Given the description of an element on the screen output the (x, y) to click on. 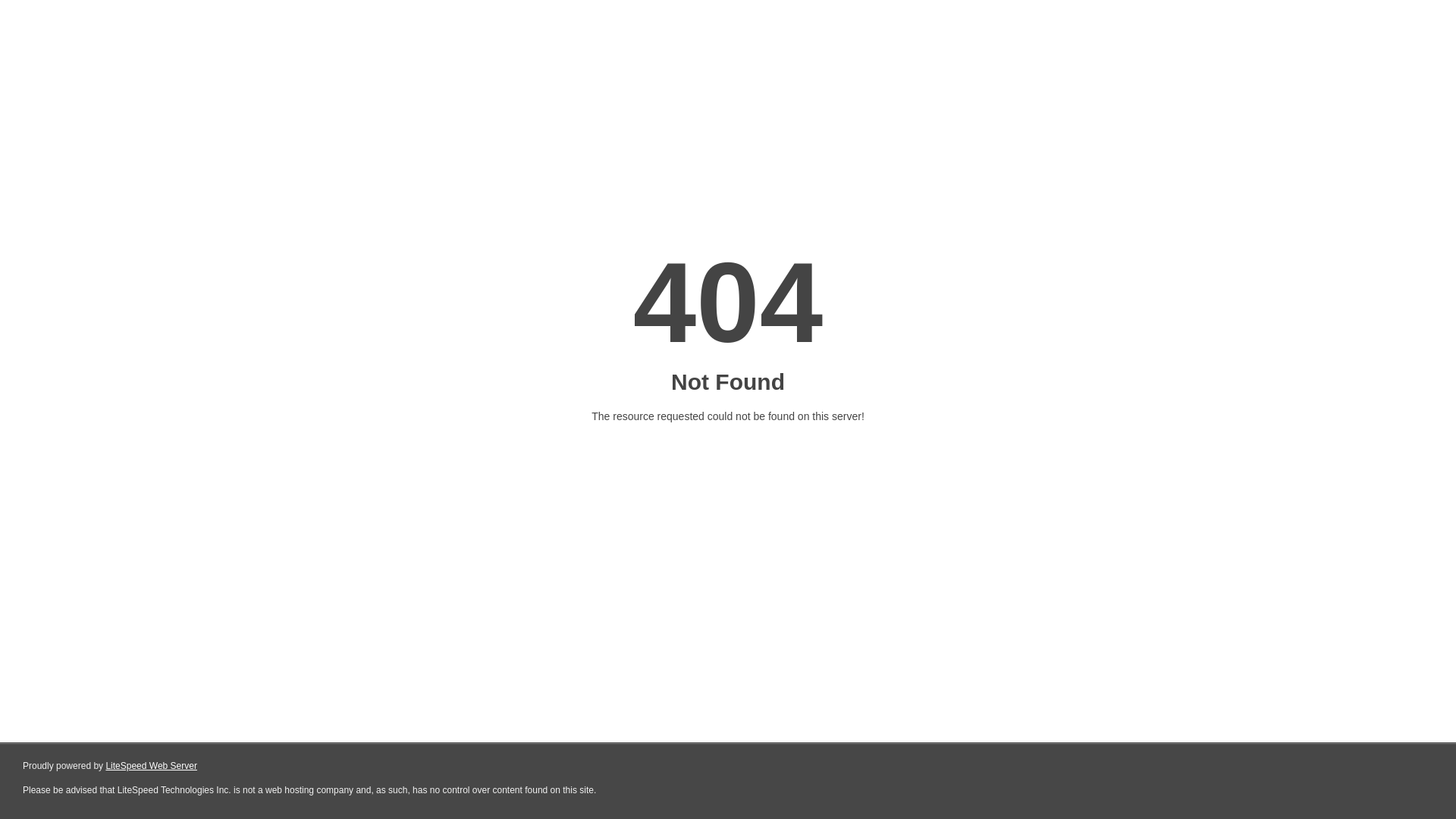
LiteSpeed Web Server Element type: text (151, 765)
